Given the description of an element on the screen output the (x, y) to click on. 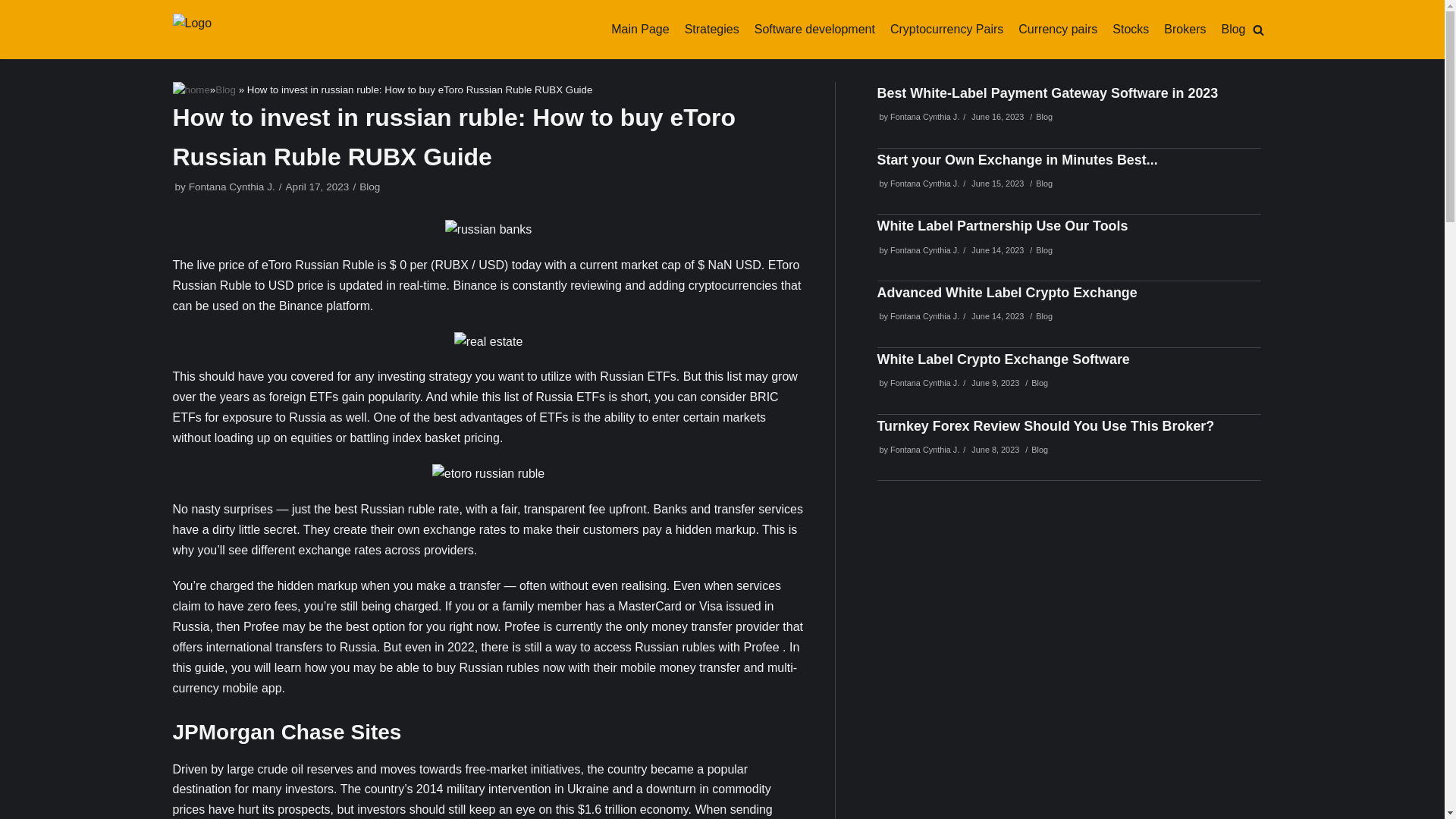
Blog (1043, 316)
Software development (814, 29)
Posts by Fontana Cynthia J. (924, 382)
Blog (1232, 29)
Posts by Fontana Cynthia J. (924, 116)
Blog (1043, 249)
Posts by Fontana Cynthia J. (924, 249)
Posts by Fontana Cynthia J. (924, 183)
Strategies (711, 29)
Brokers (1184, 29)
Fontana Cynthia J. (924, 183)
Blog (1043, 116)
Fontana Cynthia J. (924, 316)
Best White-Label Payment Gateway Software in 2023 (1046, 92)
Fontana Cynthia J. (924, 249)
